Given the description of an element on the screen output the (x, y) to click on. 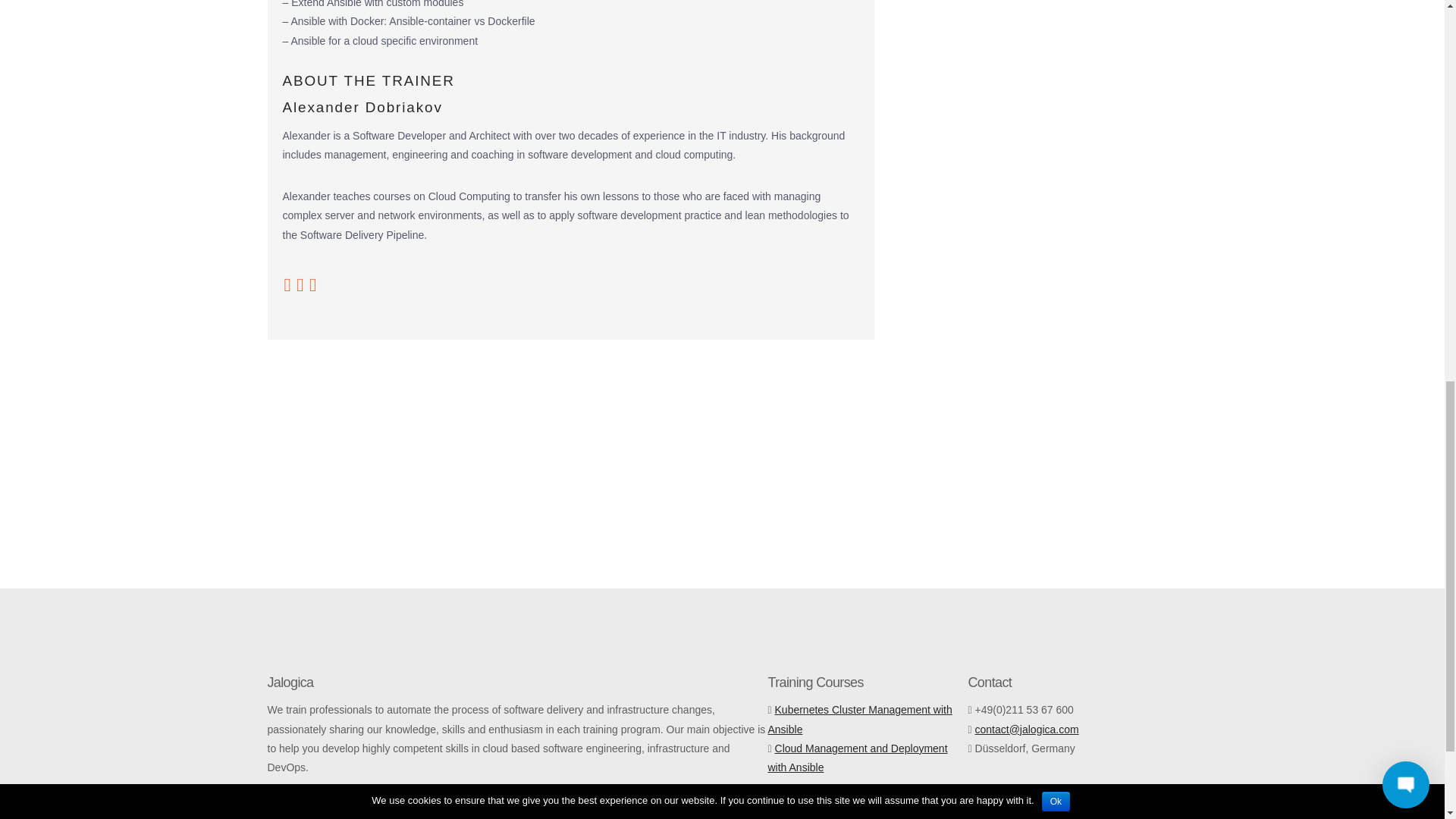
Kubernetes Cluster Management with Ansible (859, 718)
Cloud Management and Deployment with Ansible (857, 757)
